Given the description of an element on the screen output the (x, y) to click on. 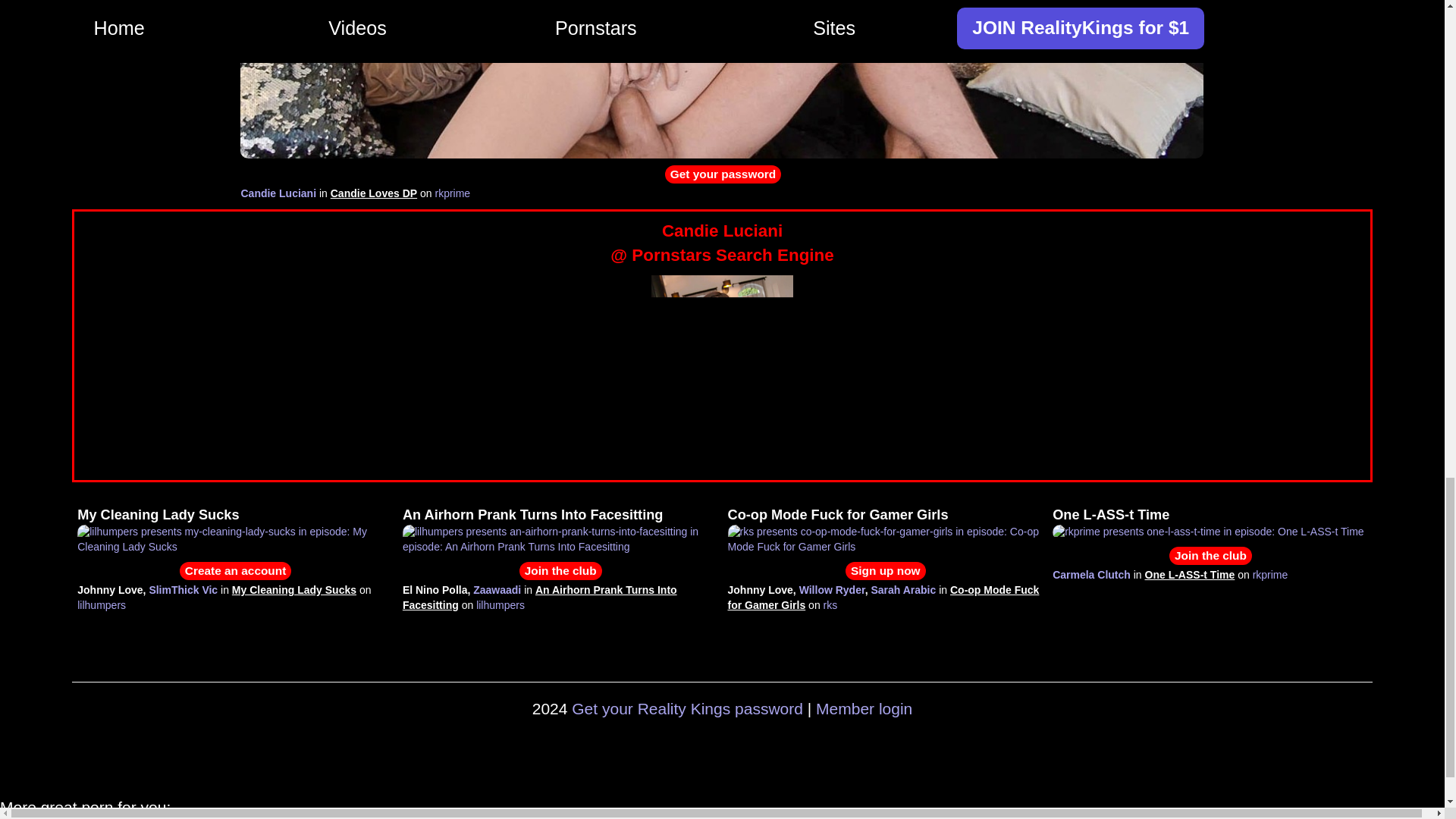
Candie Luciani (277, 193)
Zaawaadi (497, 589)
An Airhorn Prank Turns Into Facesitting (540, 596)
My Cleaning Lady Sucks (293, 589)
rks (831, 604)
lilhumpers (101, 604)
Get your password (722, 173)
